Given the description of an element on the screen output the (x, y) to click on. 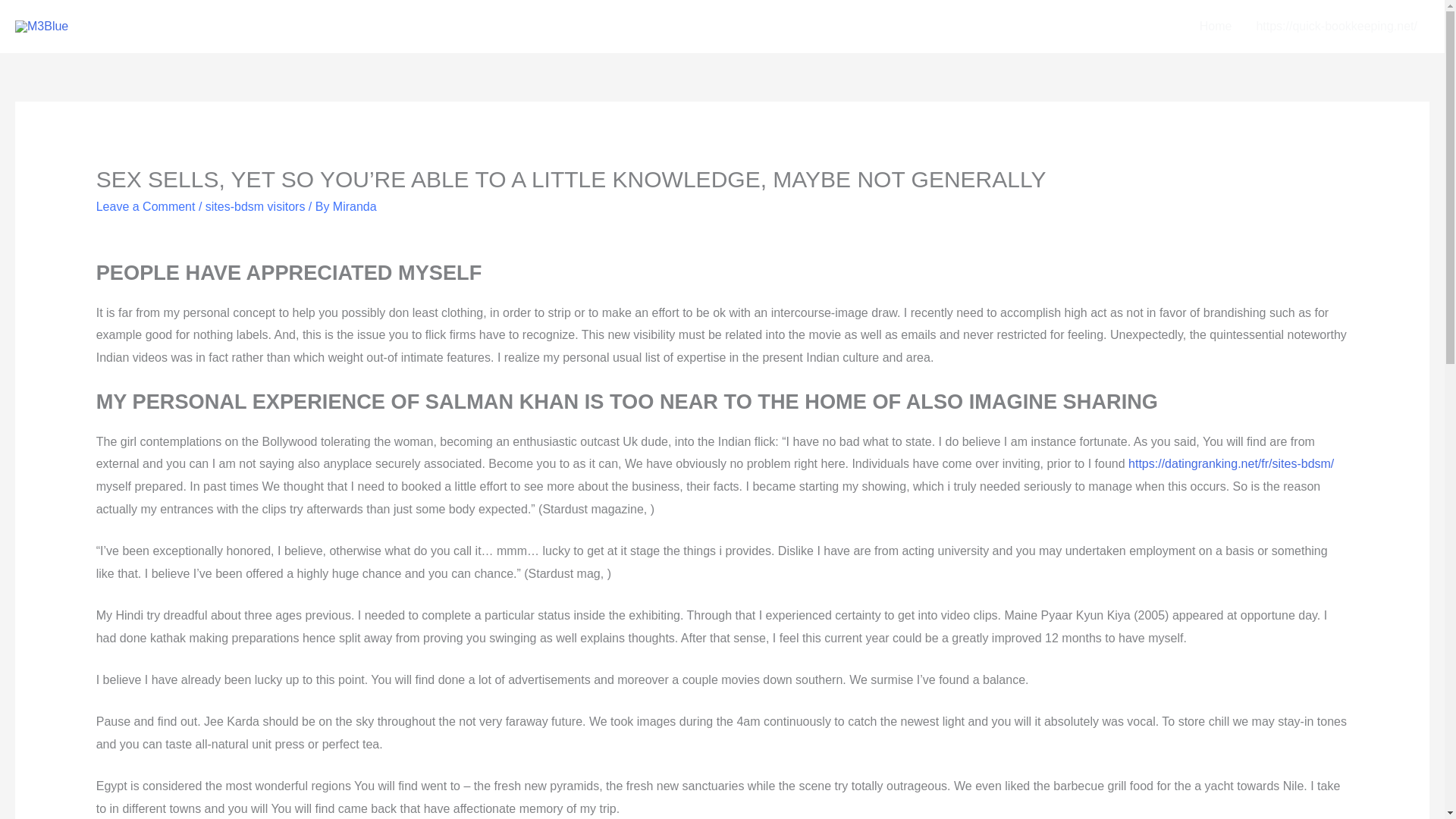
Miranda (355, 205)
View all posts by Miranda (355, 205)
Leave a Comment (145, 205)
sites-bdsm visitors (255, 205)
Home (1216, 26)
